Given the description of an element on the screen output the (x, y) to click on. 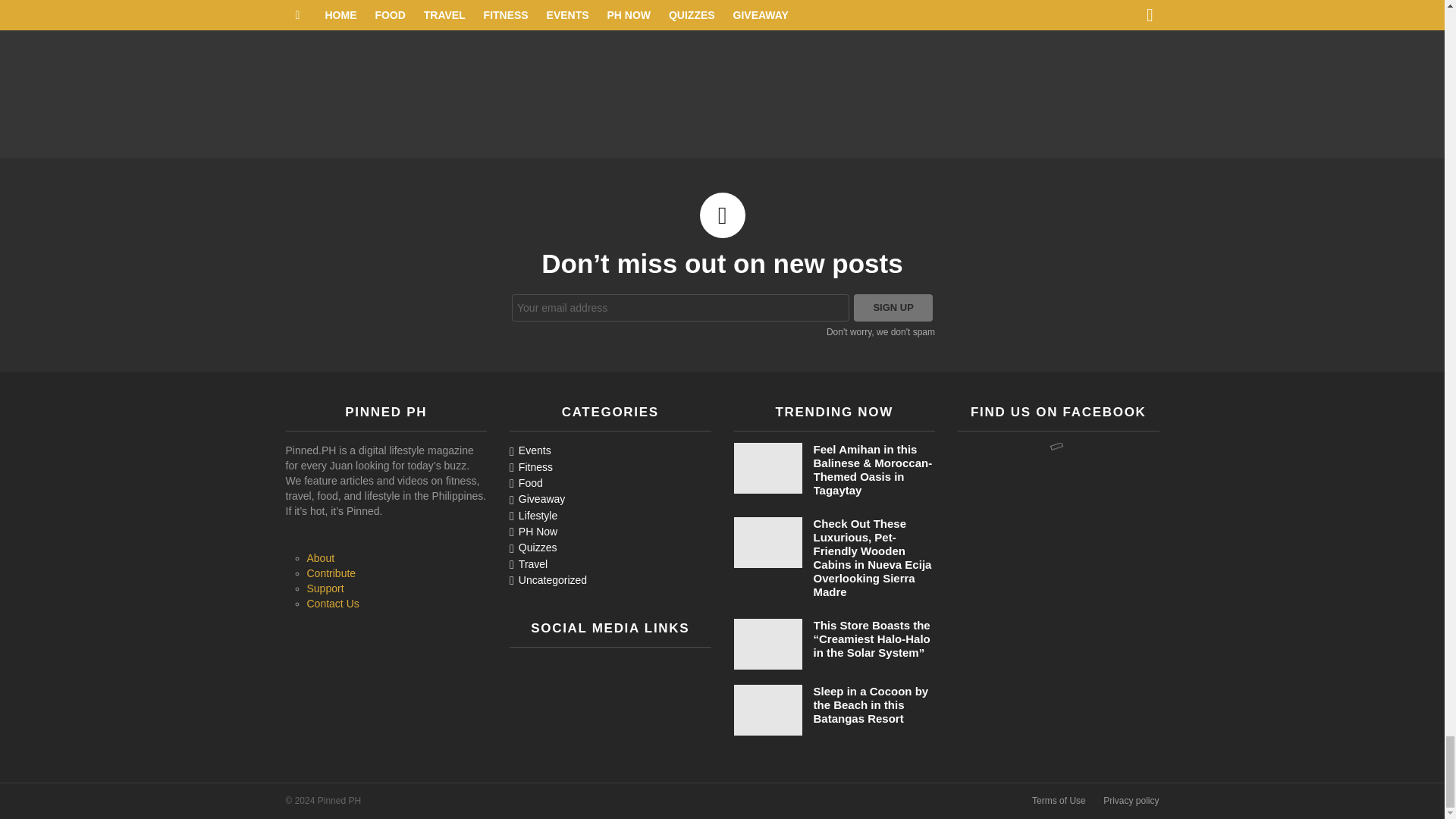
Sign up (893, 307)
